Given the description of an element on the screen output the (x, y) to click on. 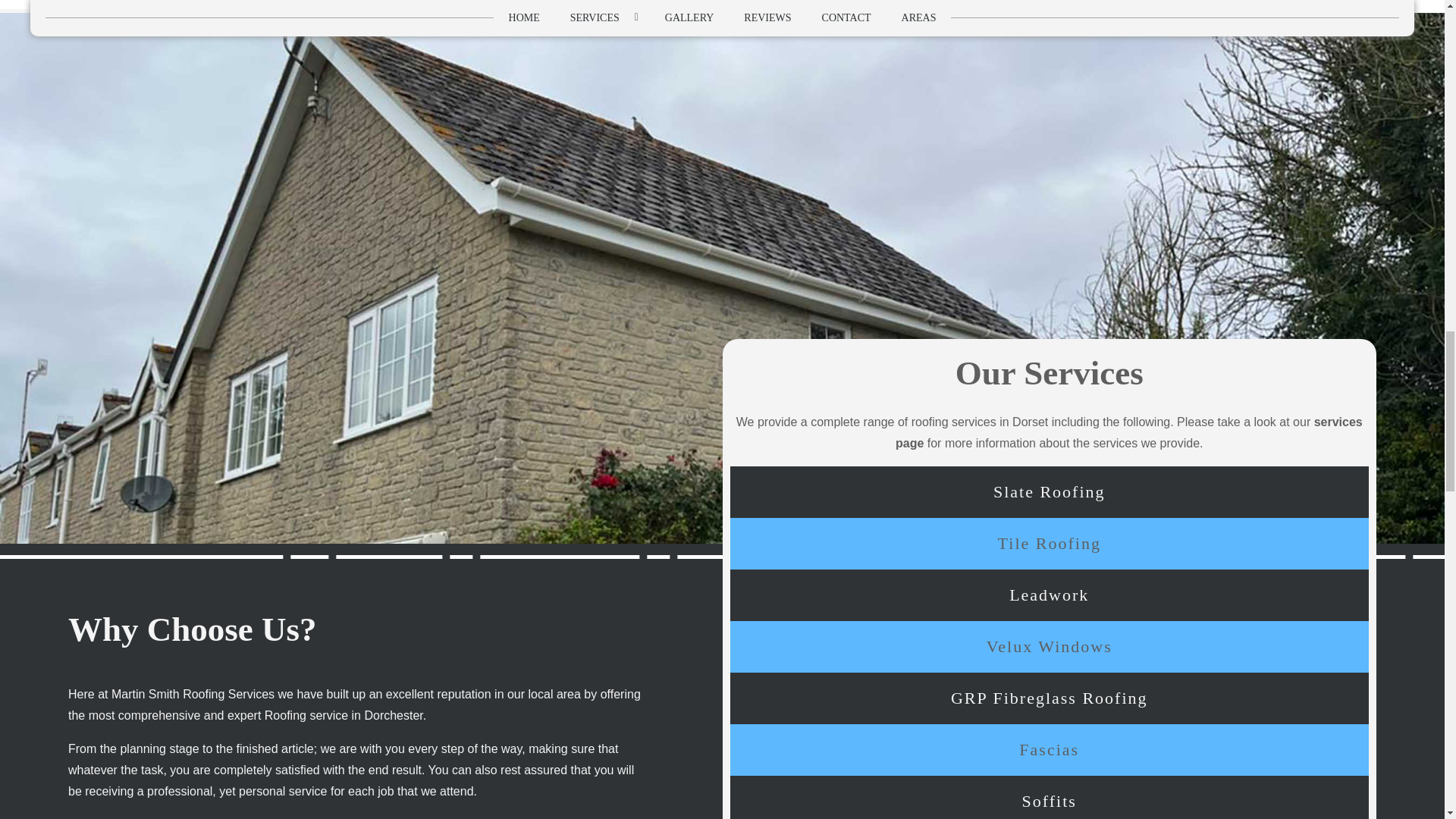
services page (1128, 432)
